Given the description of an element on the screen output the (x, y) to click on. 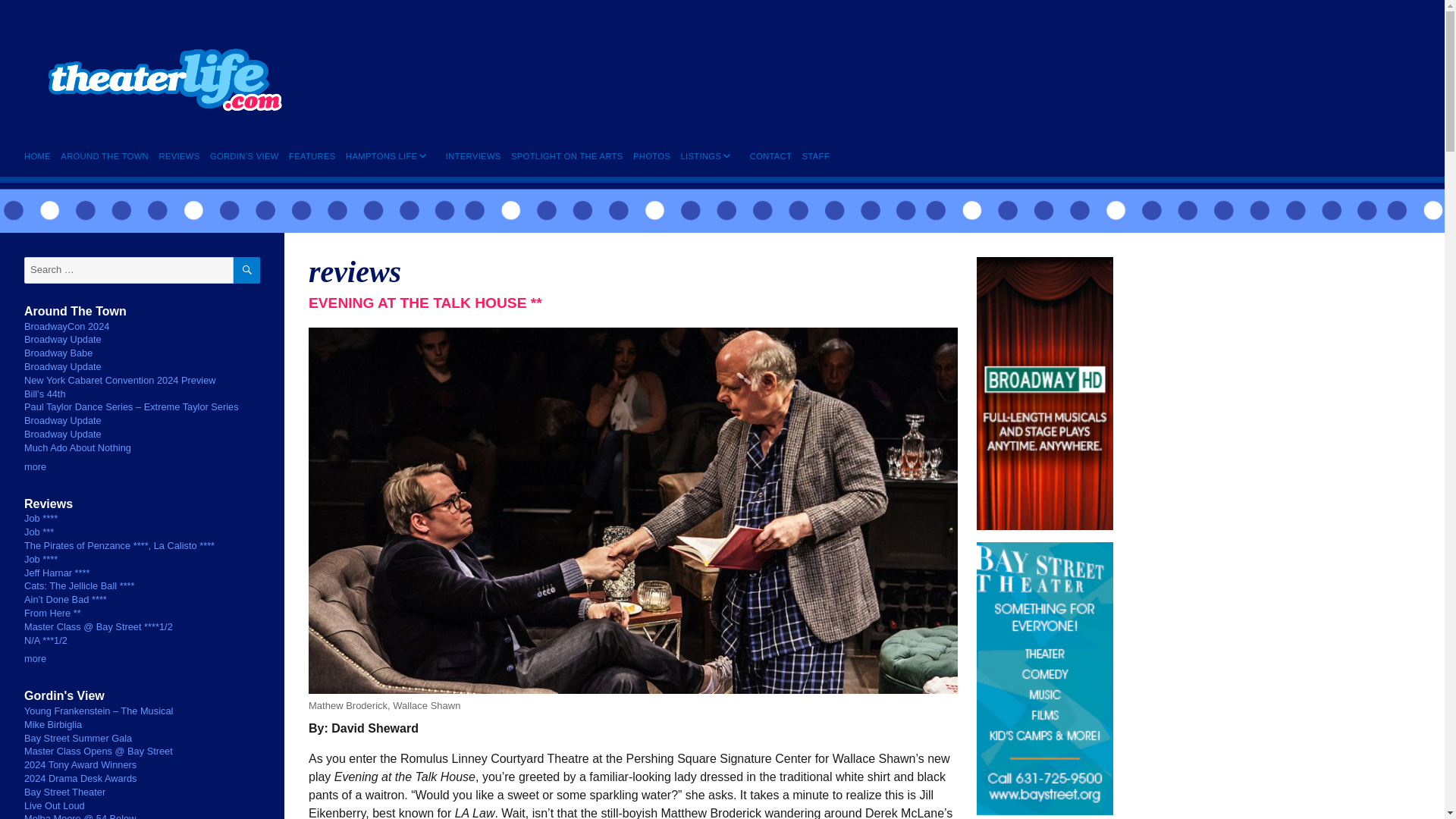
HAMPTONS LIFE (381, 156)
HOME (40, 156)
REVIEWS (179, 156)
INTERVIEWS (473, 156)
expand child menu (725, 166)
expand child menu (422, 166)
CONTACT (770, 156)
SPOTLIGHT ON THE ARTS (566, 156)
LISTINGS (700, 156)
AROUND THE TOWN (105, 156)
STAFF (815, 156)
FEATURES (311, 156)
PHOTOS (651, 156)
